Given the description of an element on the screen output the (x, y) to click on. 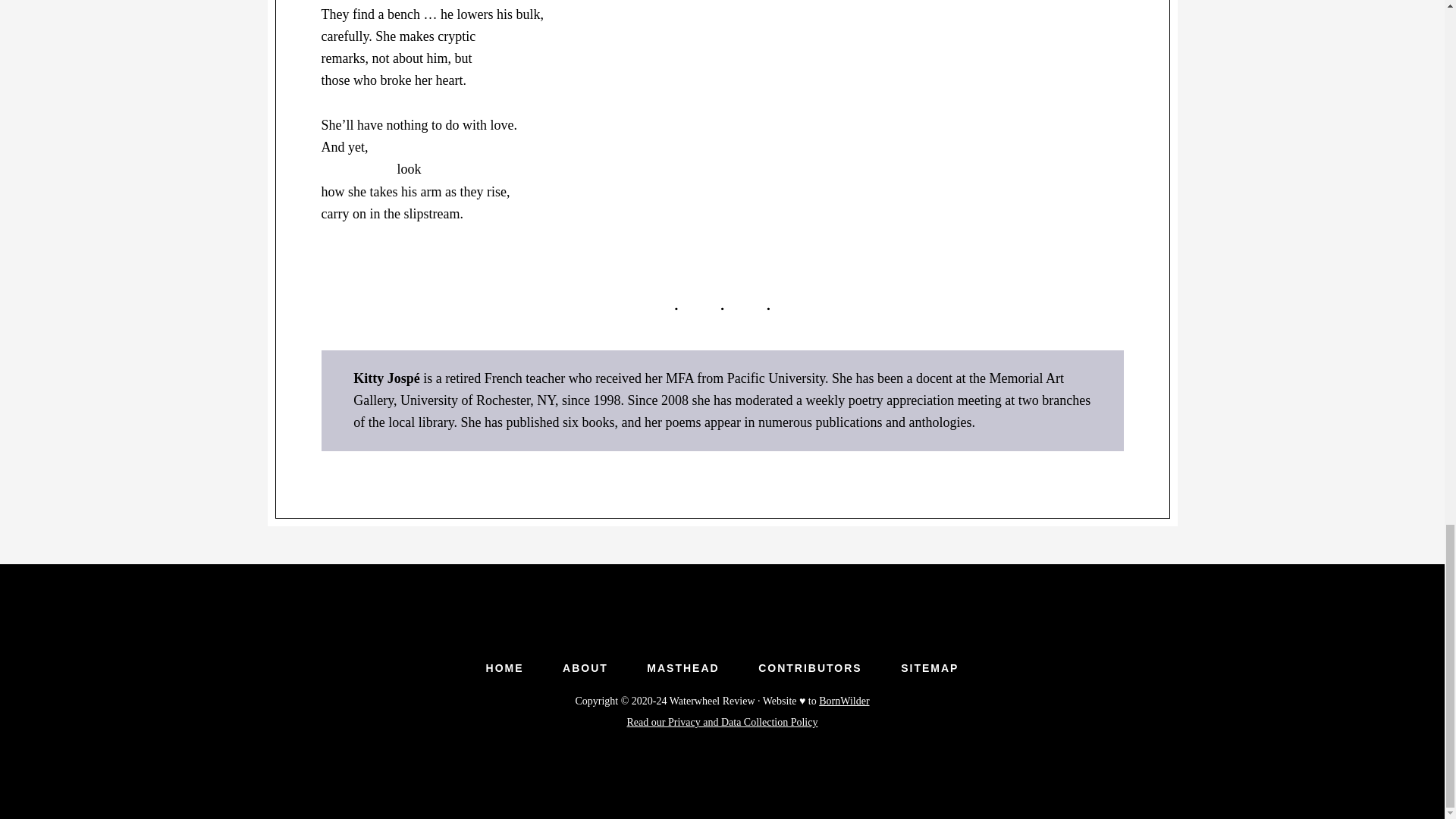
SITEMAP (929, 667)
HOME (504, 667)
CONTRIBUTORS (809, 667)
ABOUT (585, 667)
BornWilder (843, 700)
Read our Privacy and Data Collection Policy (722, 722)
MASTHEAD (682, 667)
